Given the description of an element on the screen output the (x, y) to click on. 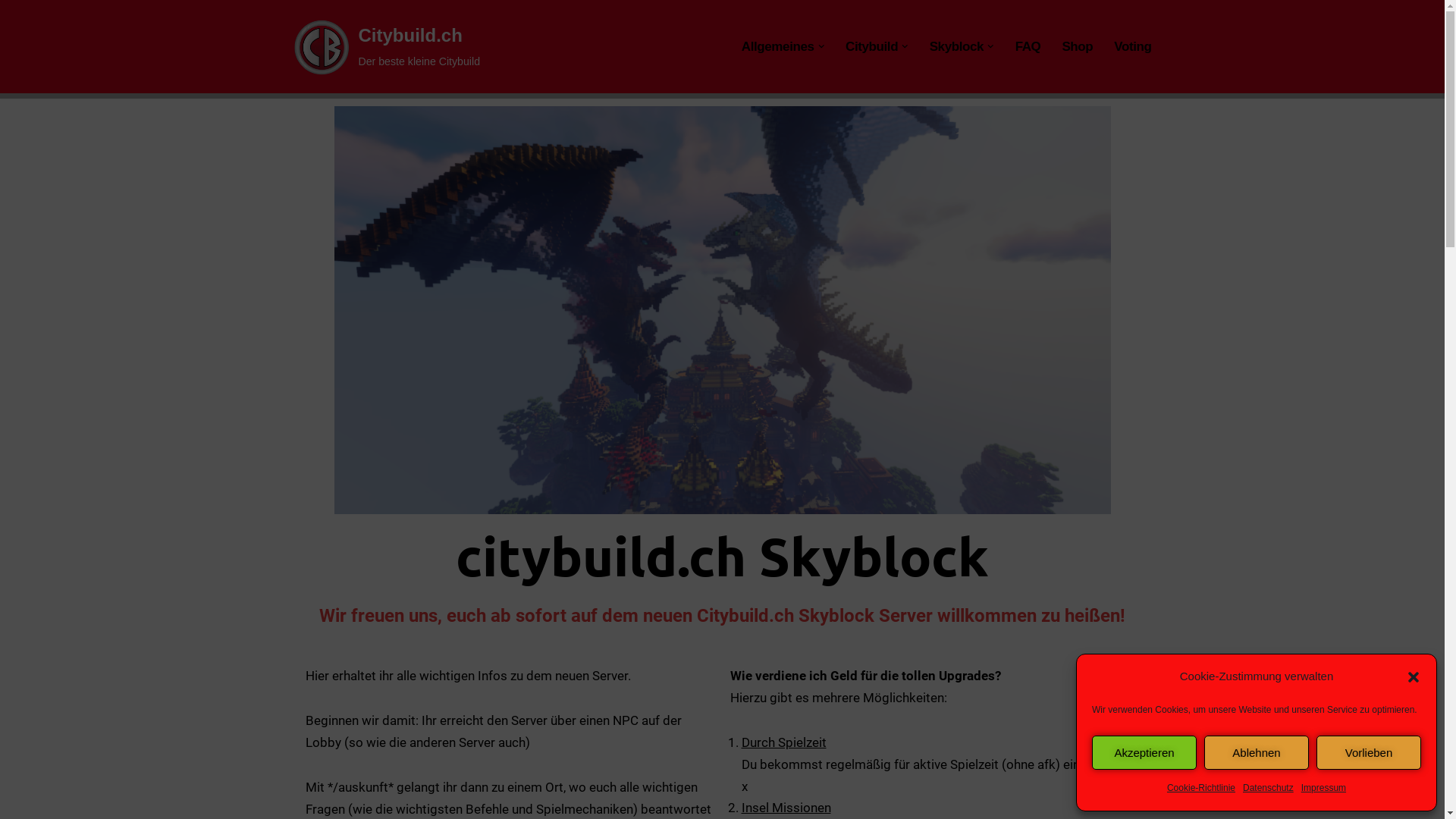
Impressum Element type: text (1323, 788)
Ablehnen Element type: text (1256, 752)
Datenschutz Element type: text (1267, 788)
Voting Element type: text (1132, 45)
Shop Element type: text (1076, 45)
Citybuild.ch
Der beste kleine Citybuild Element type: text (384, 46)
FAQ Element type: text (1028, 45)
Cookie-Richtlinie Element type: text (1201, 788)
Citybuild Element type: text (871, 45)
Akzeptieren Element type: text (1144, 752)
Allgemeines Element type: text (777, 45)
Vorlieben Element type: text (1368, 752)
Zum Inhalt springen Element type: text (11, 31)
Skyblock Element type: text (956, 45)
